Given the description of an element on the screen output the (x, y) to click on. 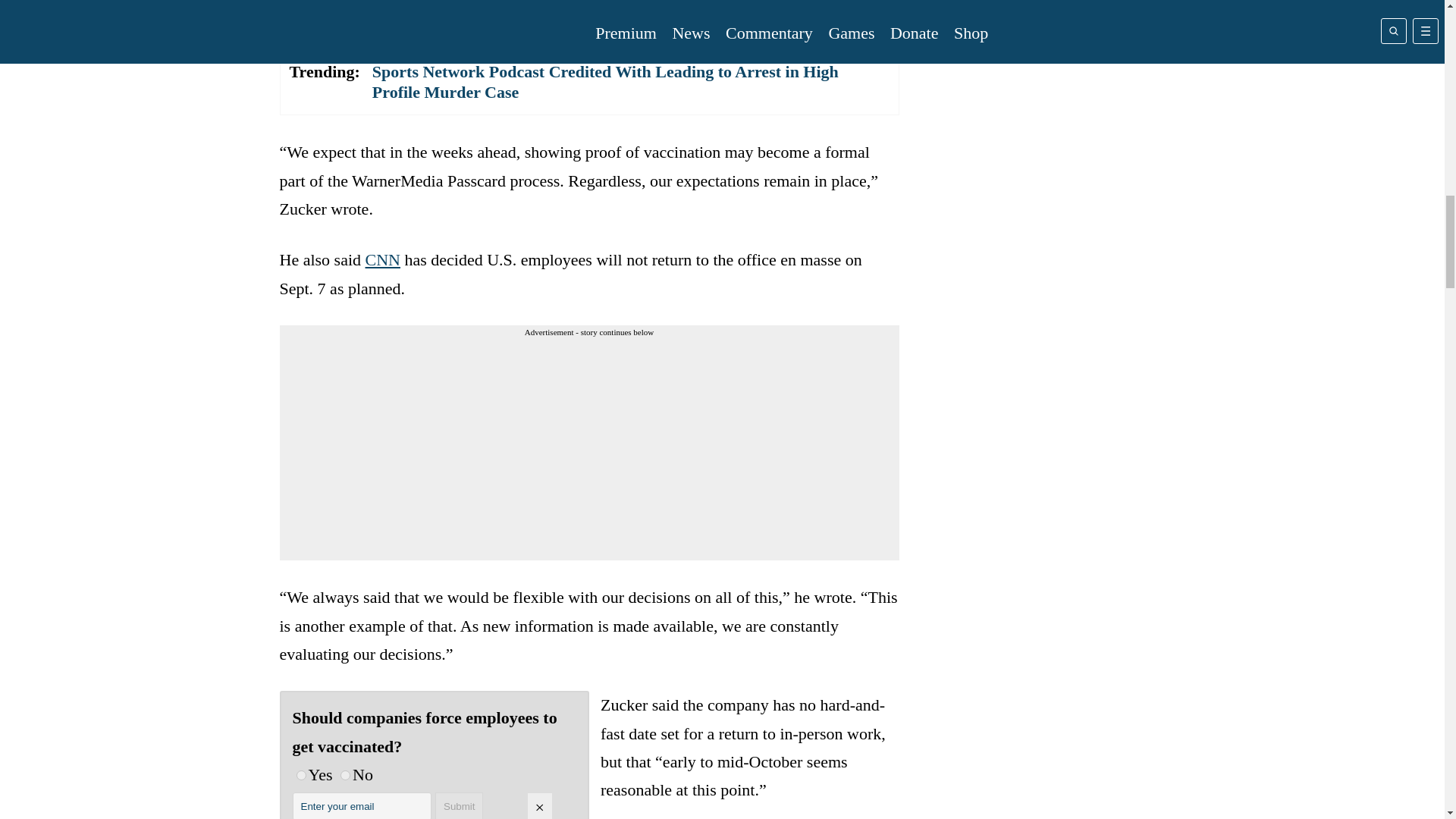
Submit (459, 805)
yes (300, 775)
no (345, 775)
